Given the description of an element on the screen output the (x, y) to click on. 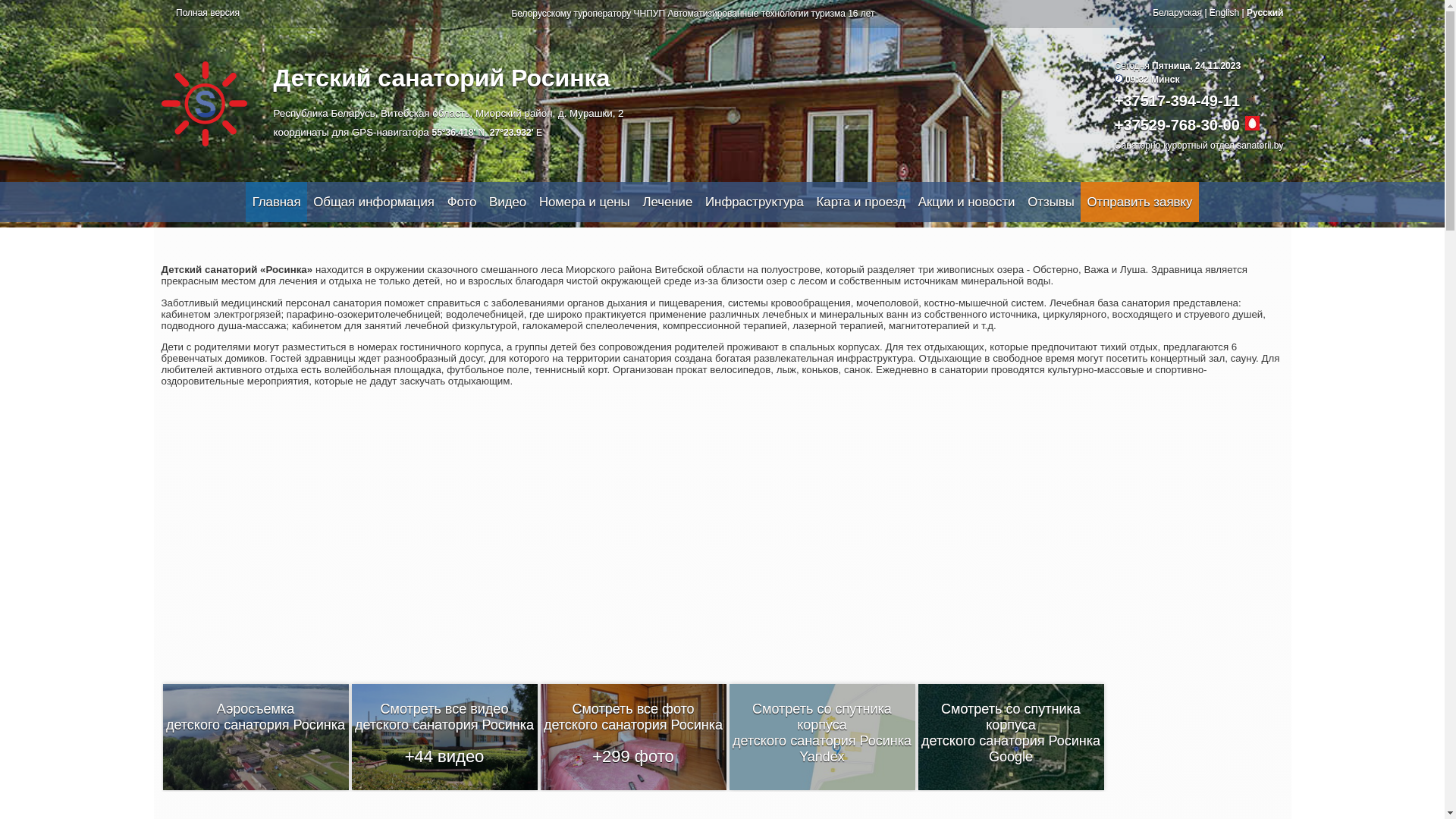
English Element type: text (1224, 12)
+37529-768-30-00 Element type: text (1176, 124)
+37517-394-49-11 Element type: text (1176, 100)
